Given the description of an element on the screen output the (x, y) to click on. 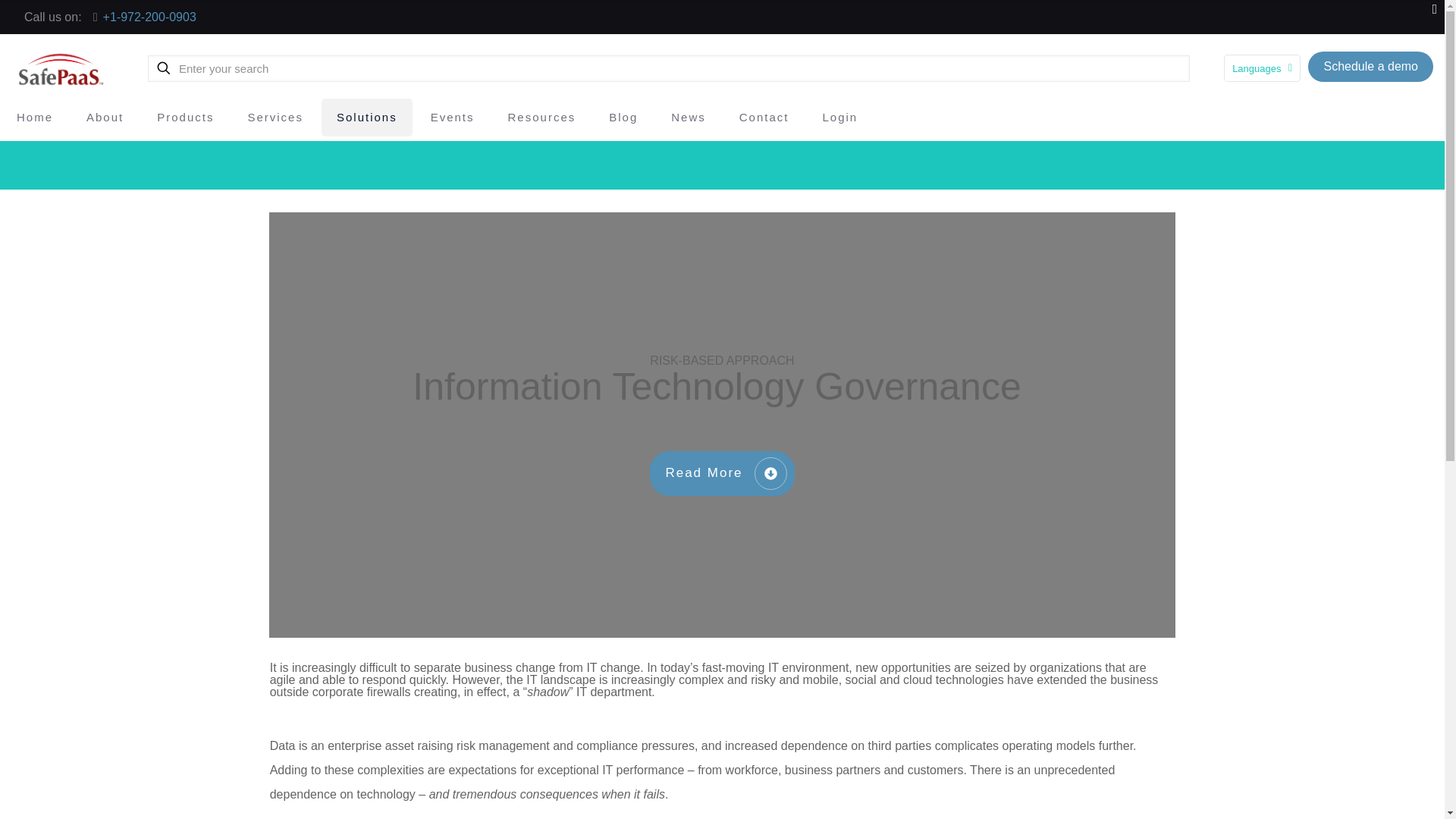
Languages (1262, 67)
Schedule a demo (1369, 66)
Products (184, 117)
SafePaaS (60, 68)
Home (34, 117)
About (104, 117)
